Given the description of an element on the screen output the (x, y) to click on. 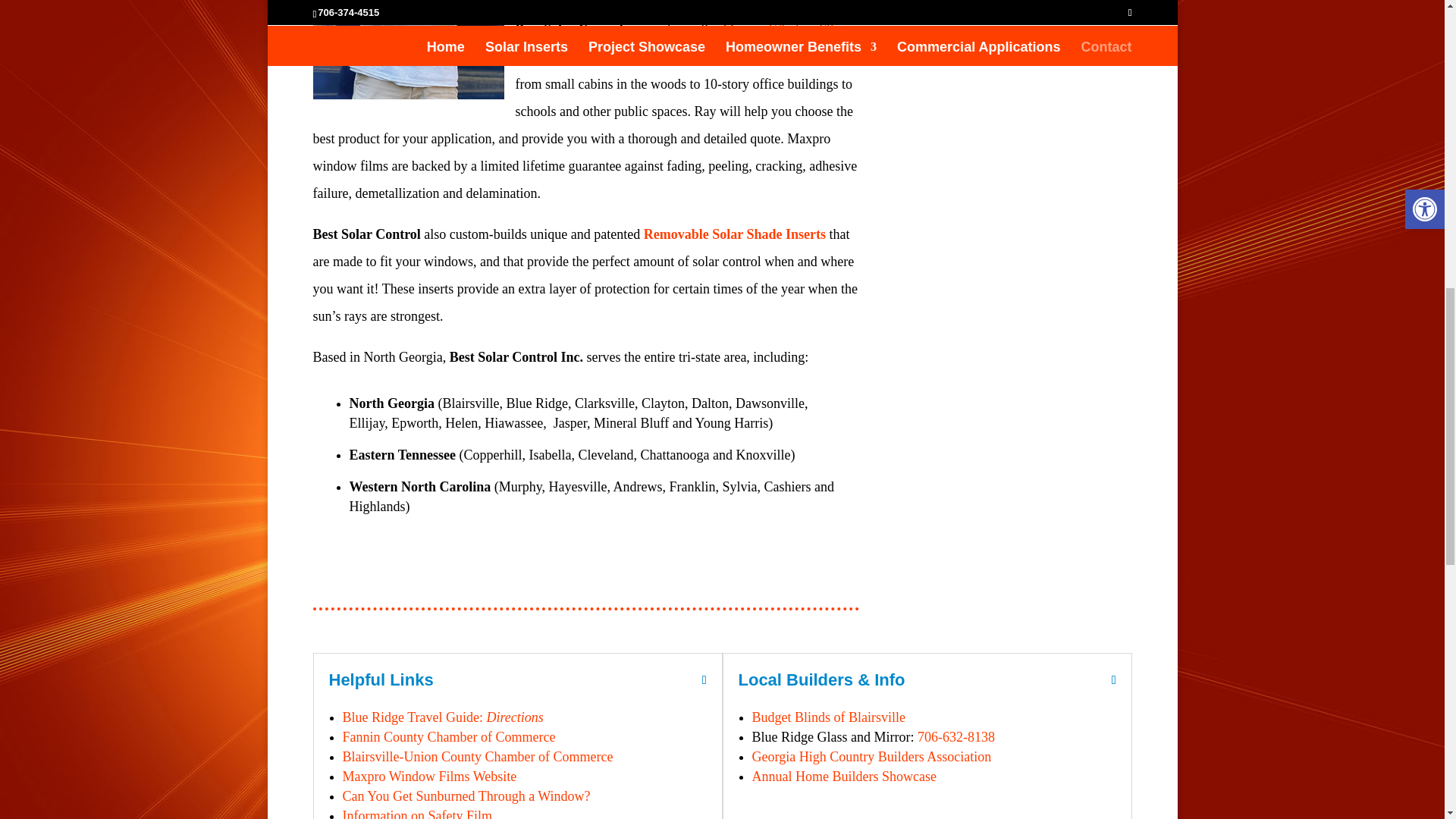
Can You Get Sunburned Through a Window? (466, 795)
Blairsville-Union County Chamber of Commerce (477, 756)
Fannin County Chamber of Commerce (449, 736)
GA Home Builders (871, 756)
Maxpro Window Films (786, 29)
Madico Windoow Film Website (429, 776)
Fannin County Chamber of Commerce (449, 736)
Can You Get Sunburned Through a Window? (466, 795)
Blue Ridge Travel Guide: Directions (442, 717)
Maxpro Window Films Website (429, 776)
Removable Solar Shade Inserts (734, 233)
Union Chamber (477, 756)
WSJ Article on Window Decorating Trends (417, 813)
